Given the description of an element on the screen output the (x, y) to click on. 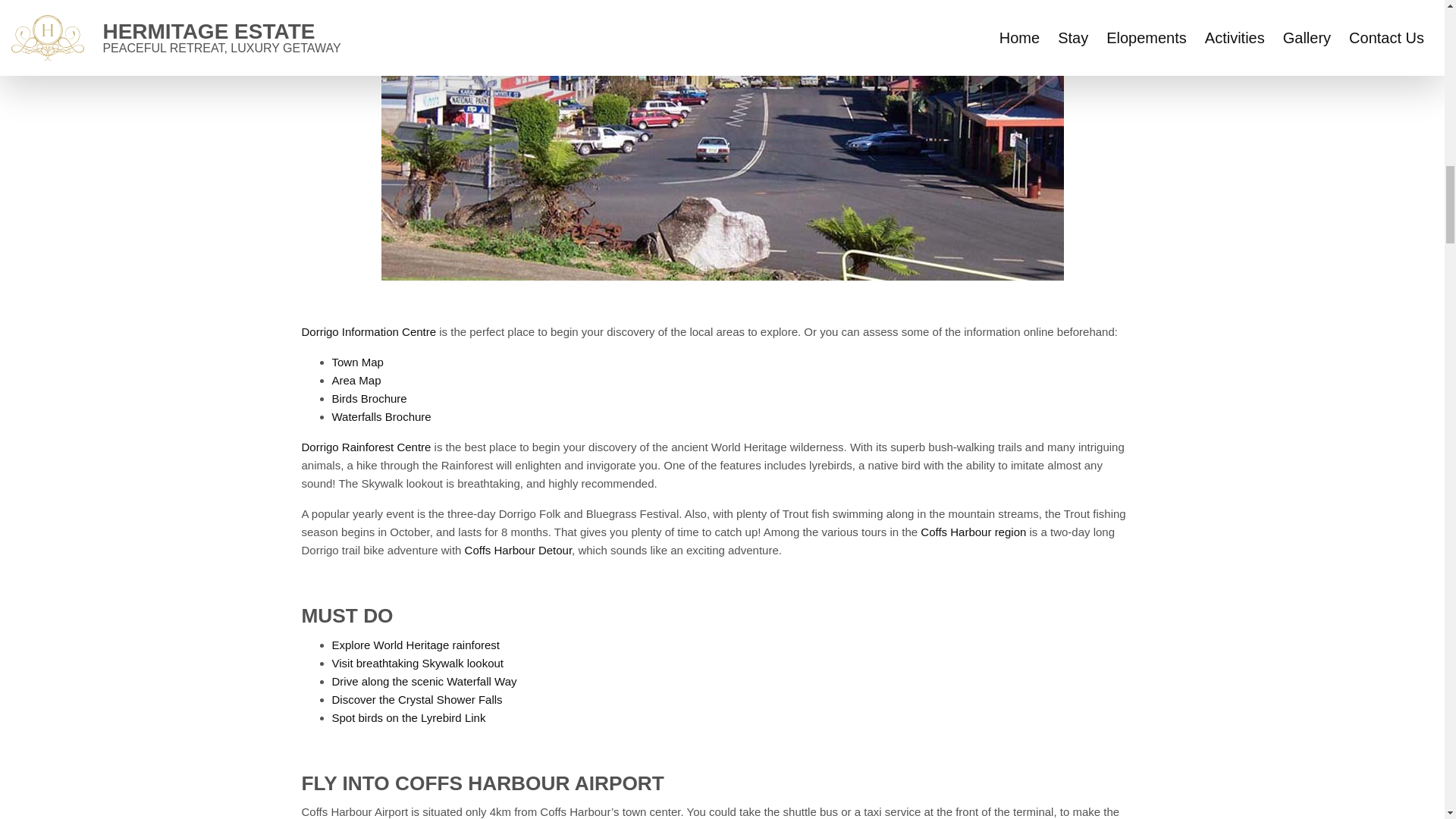
Area Map (356, 379)
Town Map (357, 361)
Dorrigo Information Centre (368, 331)
Birds Brochure (369, 398)
